Given the description of an element on the screen output the (x, y) to click on. 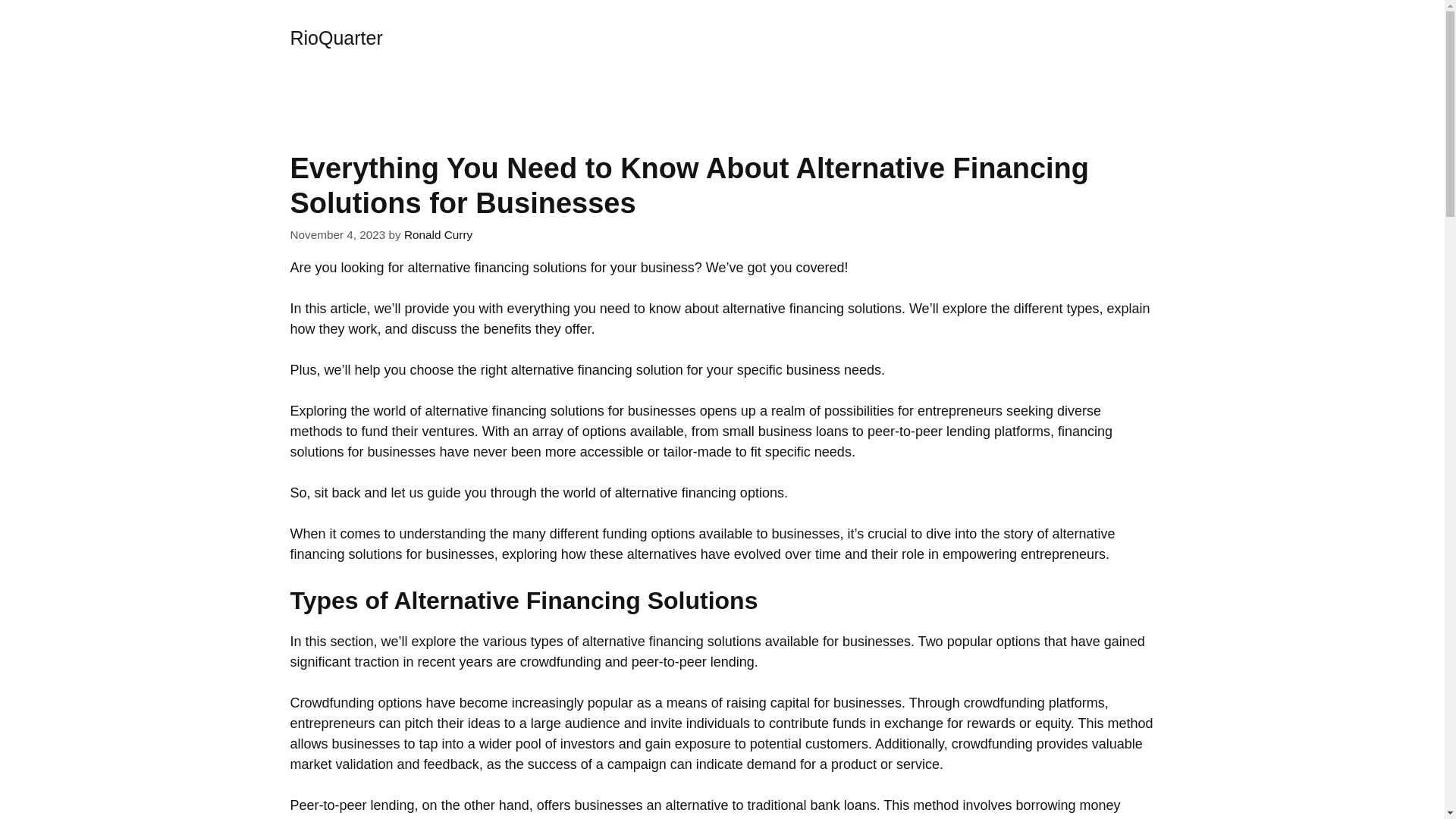
Contact Us (633, 37)
Ronald Curry (437, 234)
the story of alternative financing solutions for businesses (702, 543)
About Us (729, 37)
RioQuarter (335, 37)
Disclaimer (942, 37)
Privacy Policy (833, 37)
Terms and Conditions (1072, 37)
financing solutions for businesses (593, 410)
View all posts by Ronald Curry (437, 234)
